Given the description of an element on the screen output the (x, y) to click on. 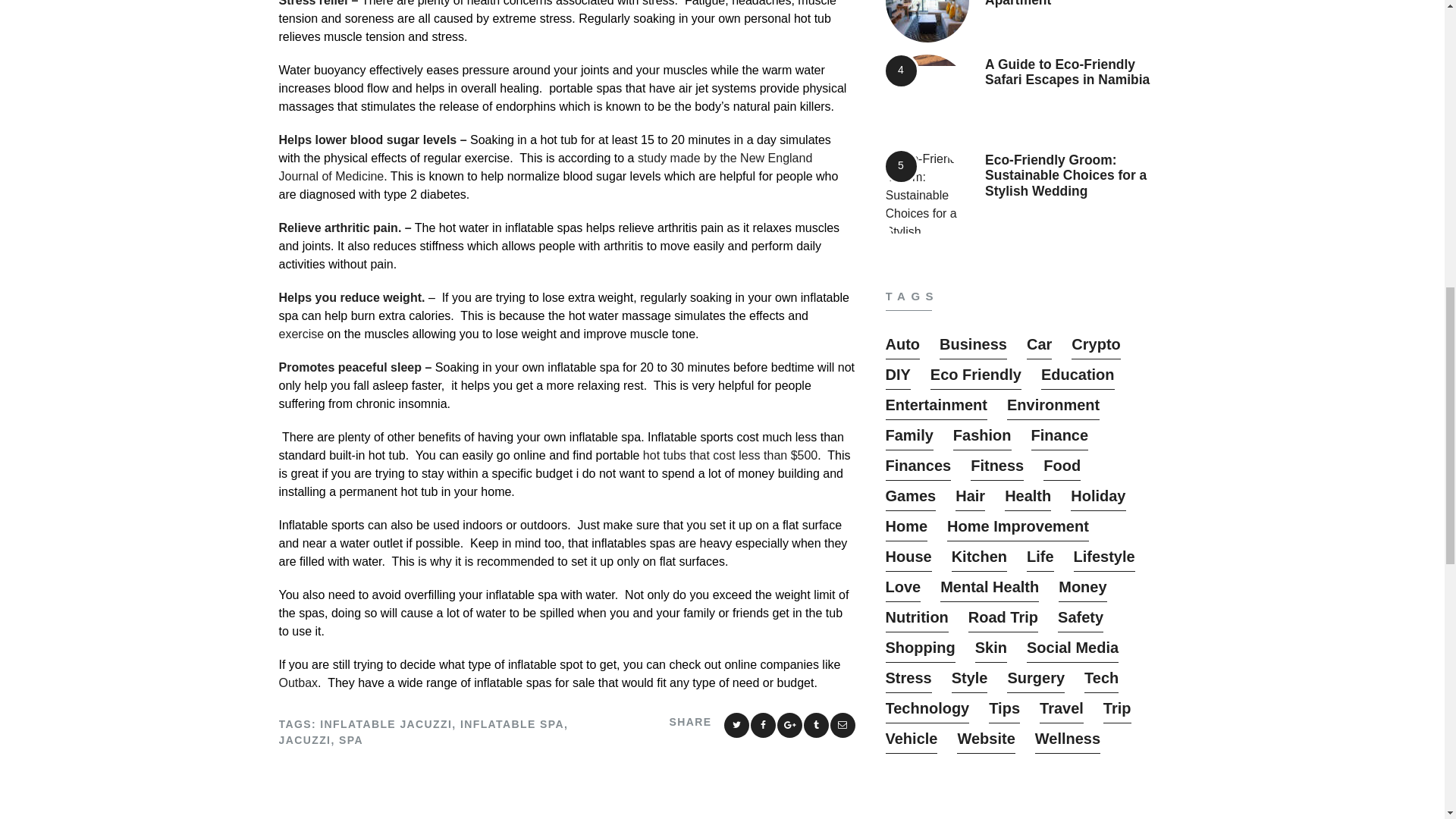
study made by the New England Journal of Medicine (545, 166)
exercise (301, 333)
